Given the description of an element on the screen output the (x, y) to click on. 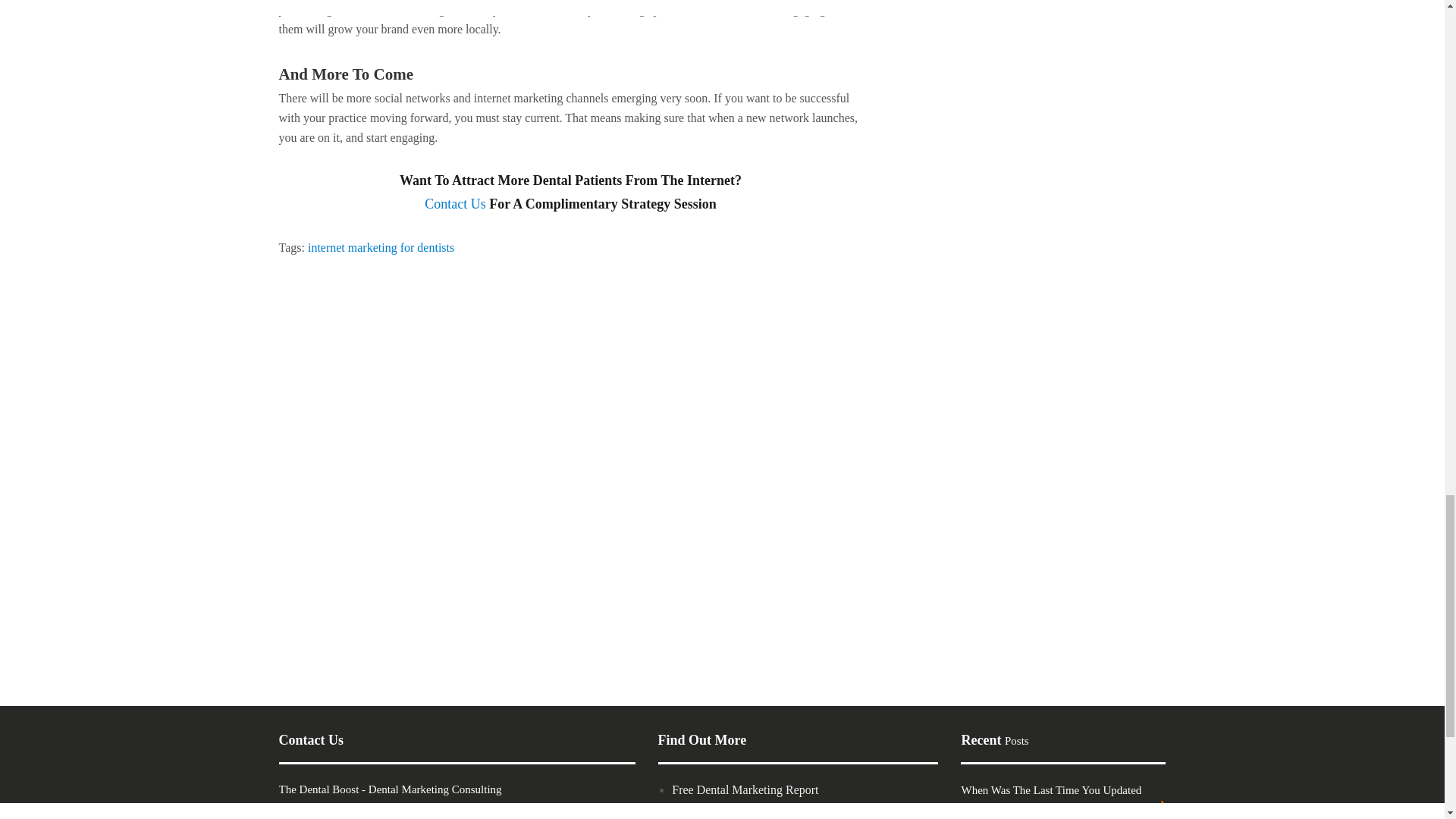
Free Dental Marketing Report (744, 789)
Contact Us (455, 203)
Custom Dental Website Design (747, 810)
internet marketing for dentists (380, 246)
